Given the description of an element on the screen output the (x, y) to click on. 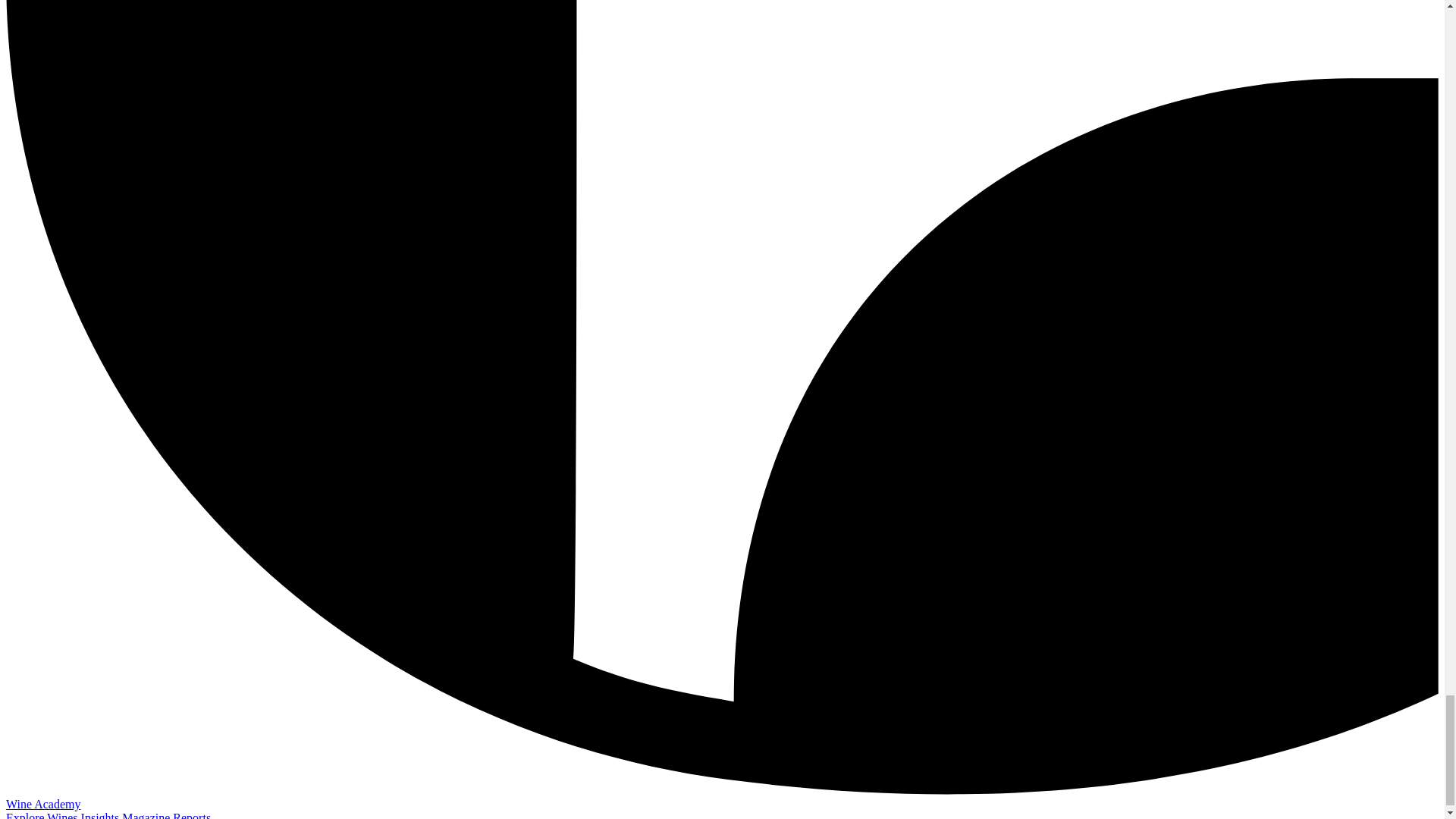
Wine Academy (42, 803)
